Given the description of an element on the screen output the (x, y) to click on. 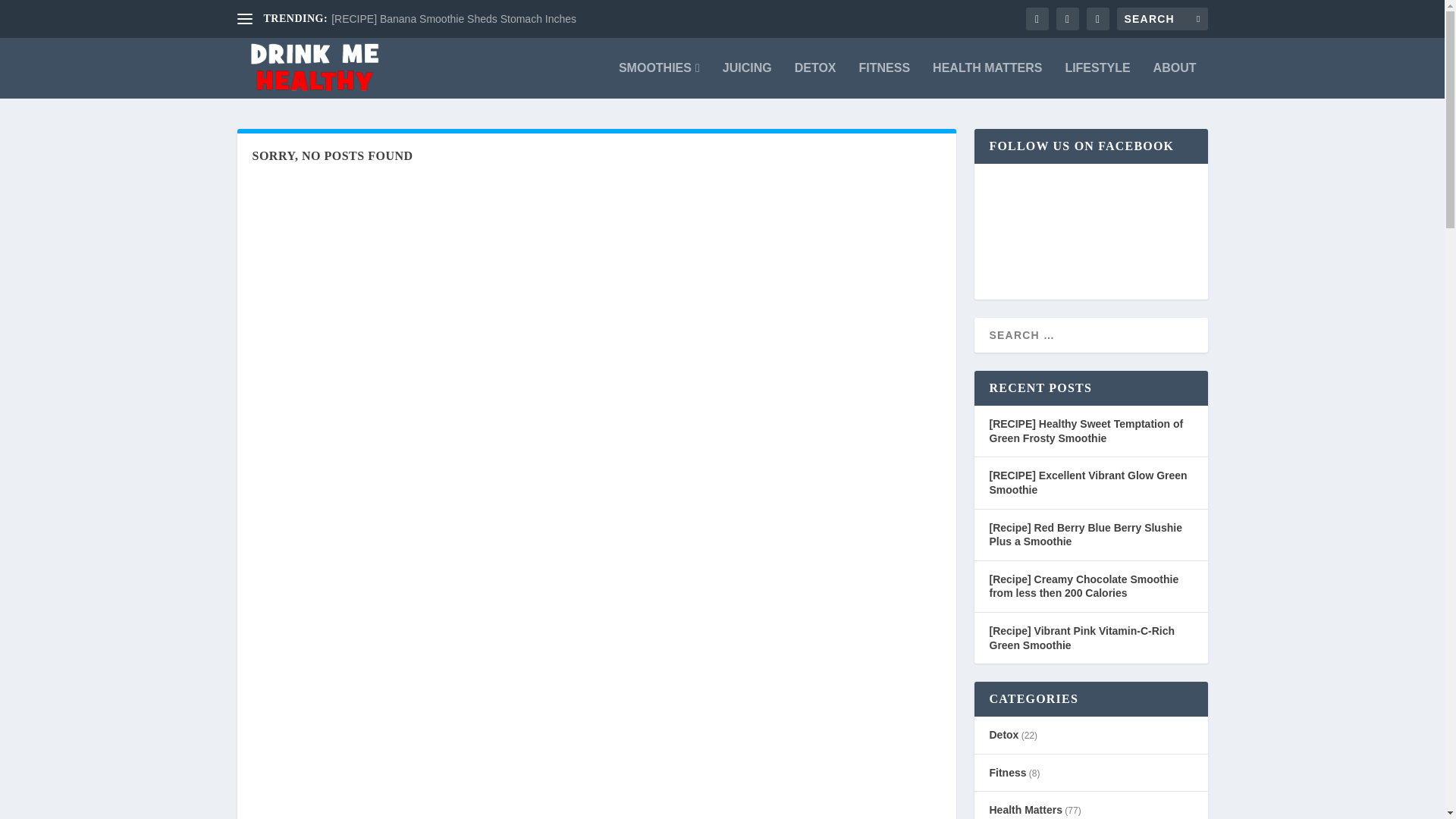
JUICING (746, 80)
LIFESTYLE (1096, 80)
SMOOTHIES (659, 80)
DETOX (814, 80)
Search for: (1161, 18)
FITNESS (885, 80)
ABOUT (1174, 80)
HEALTH MATTERS (987, 80)
Search (31, 13)
